Given the description of an element on the screen output the (x, y) to click on. 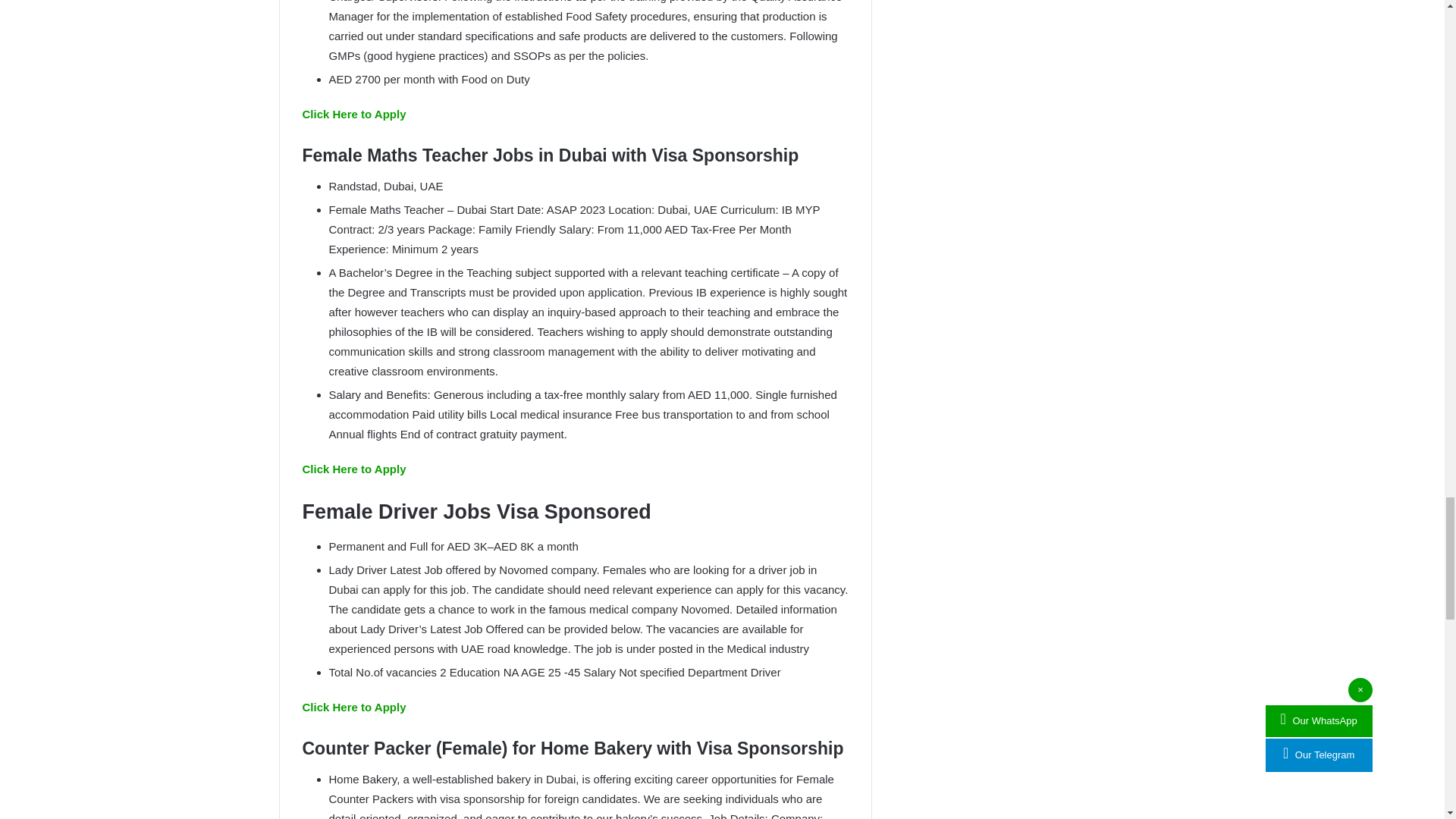
Click Here to Apply (353, 707)
Click Here to Apply (353, 113)
Click Here to Apply (353, 468)
